Given the description of an element on the screen output the (x, y) to click on. 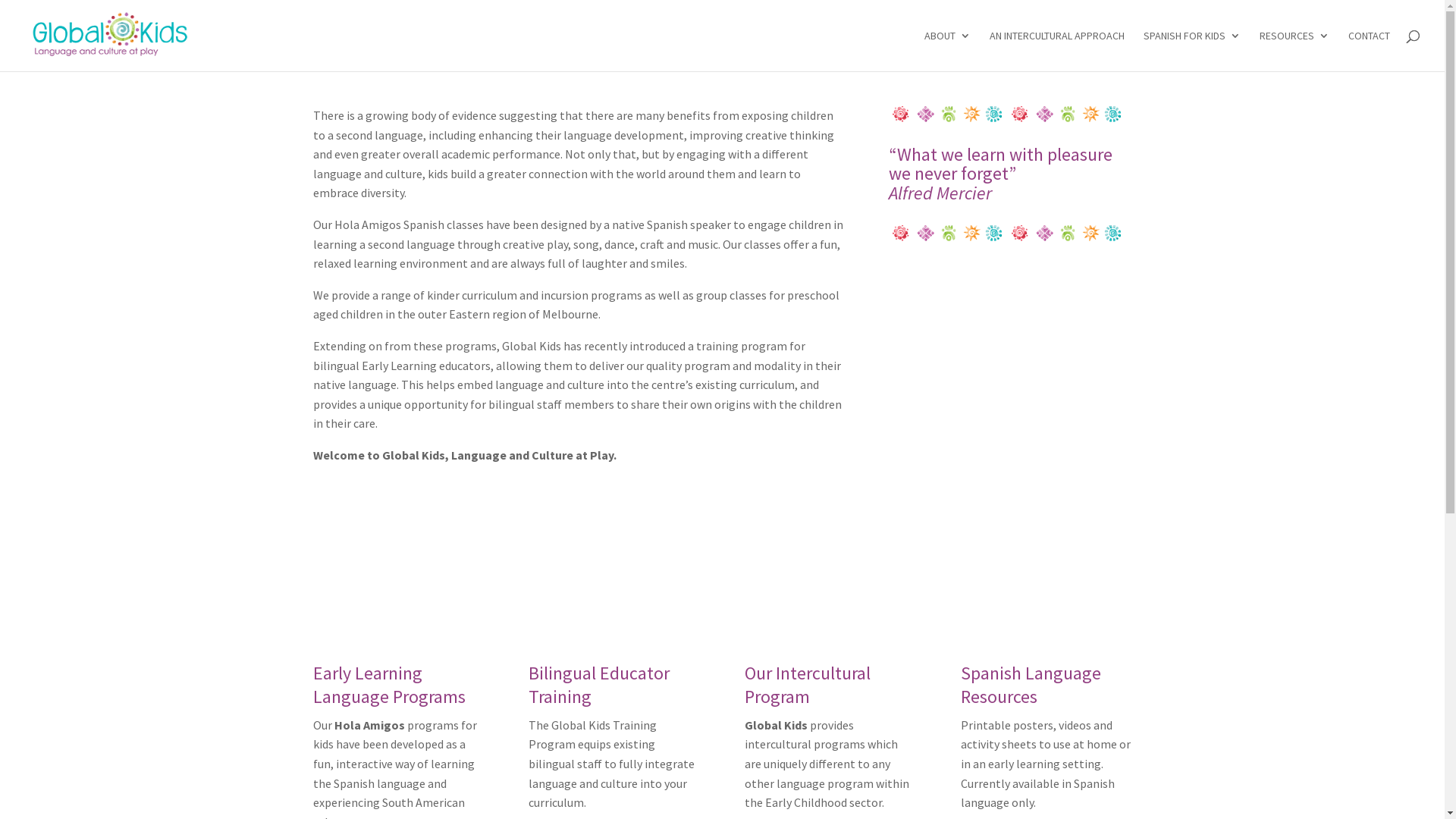
Early Learning Language Programs Element type: text (388, 684)
SPANISH FOR KIDS Element type: text (1191, 50)
Bilingual Educator Training Element type: text (598, 684)
AN INTERCULTURAL APPROACH Element type: text (1056, 50)
ABOUT Element type: text (947, 50)
RESOURCES Element type: text (1294, 50)
CONTACT Element type: text (1369, 50)
Our Intercultural Program Element type: text (807, 684)
